Given the description of an element on the screen output the (x, y) to click on. 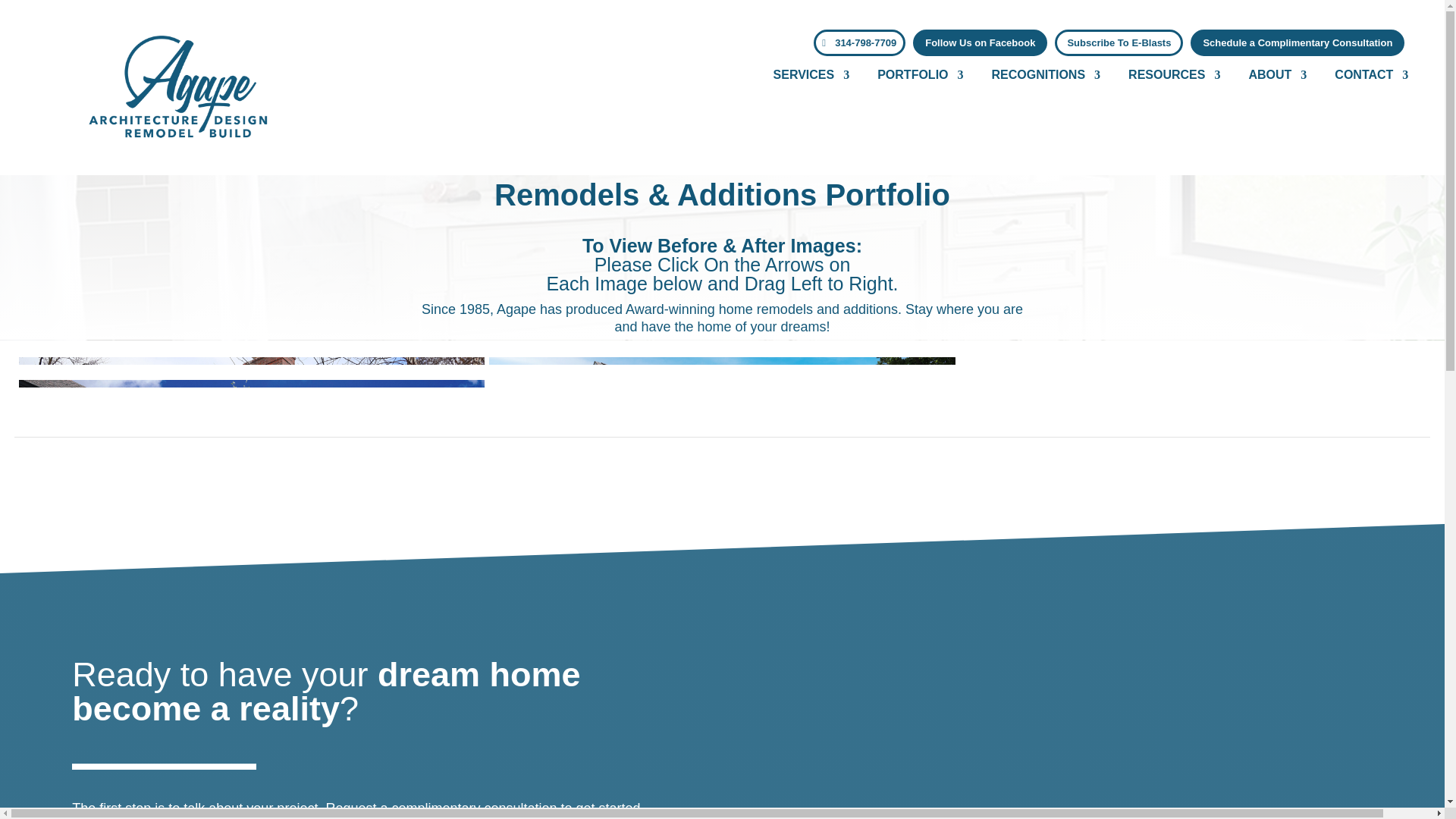
CONTACT (1365, 77)
RESOURCES (1168, 77)
Subscribe To E-Blasts (1118, 42)
Schedule a Complimentary Consultation (1298, 42)
SERVICES (805, 77)
314-798-7709 (859, 42)
RECOGNITIONS (1039, 77)
Follow Us on Facebook (979, 42)
ABOUT (1271, 77)
PORTFOLIO (914, 77)
